Given the description of an element on the screen output the (x, y) to click on. 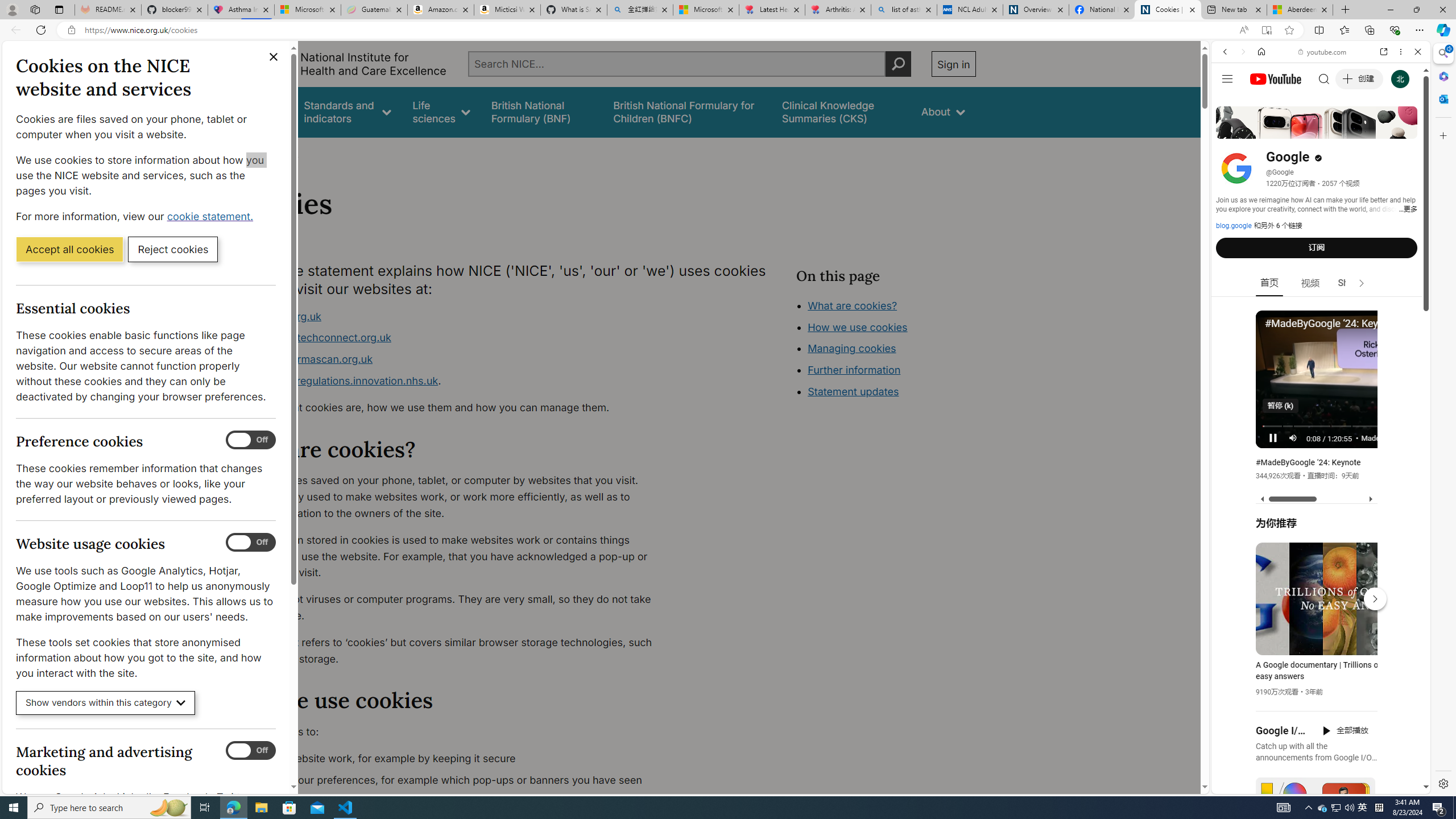
www.digitalregulations.innovation.nhs.uk (338, 380)
How we use cookies (857, 327)
Shorts (1351, 283)
Accept all cookies (69, 248)
www.digitalregulations.innovation.nhs.uk. (452, 380)
Class: in-page-nav__list (884, 349)
YouTube - YouTube (1315, 560)
Reject cookies (173, 248)
